Given the description of an element on the screen output the (x, y) to click on. 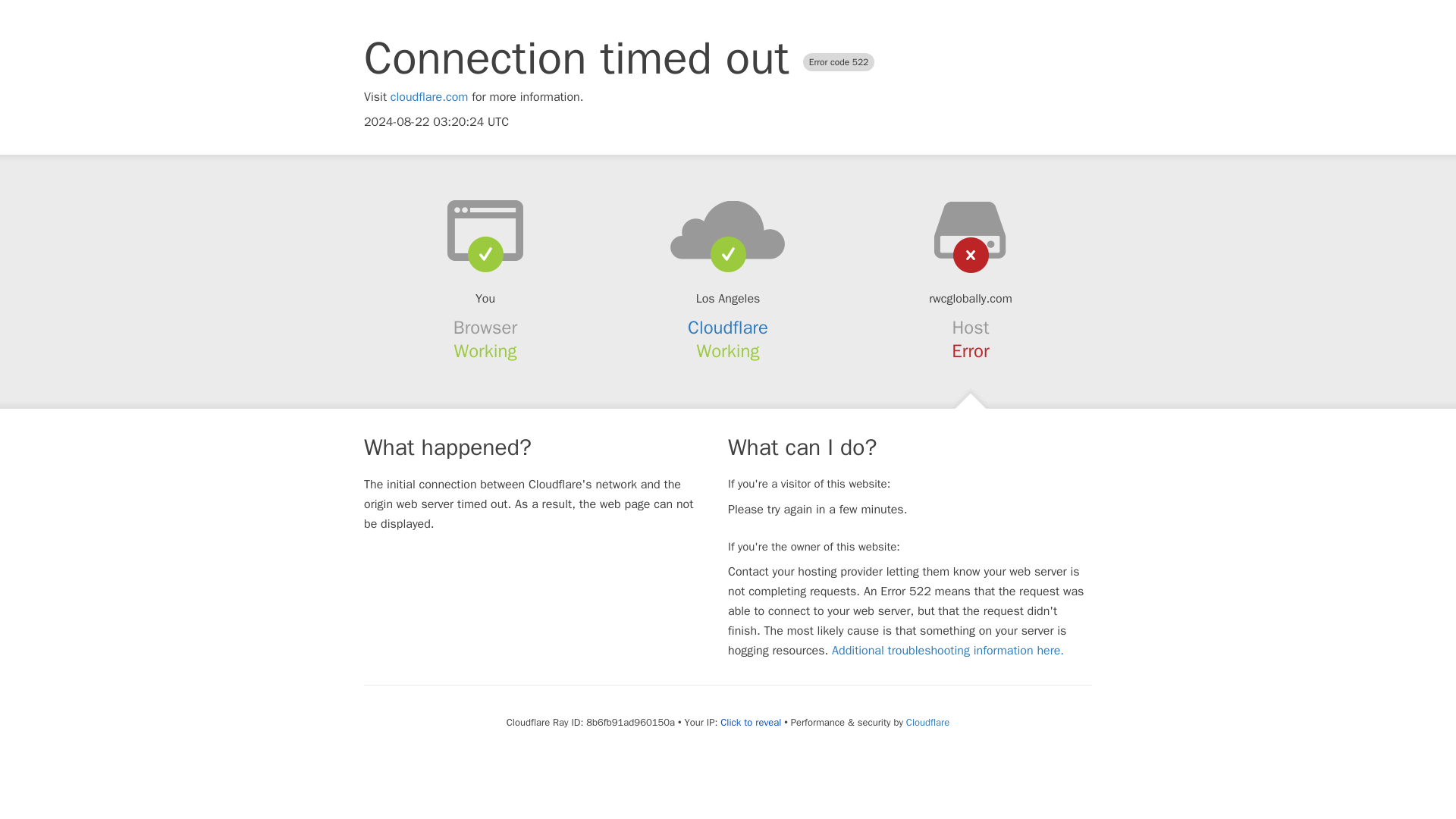
Click to reveal (750, 722)
cloudflare.com (429, 96)
Cloudflare (927, 721)
Cloudflare (727, 327)
Additional troubleshooting information here. (947, 650)
